Given the description of an element on the screen output the (x, y) to click on. 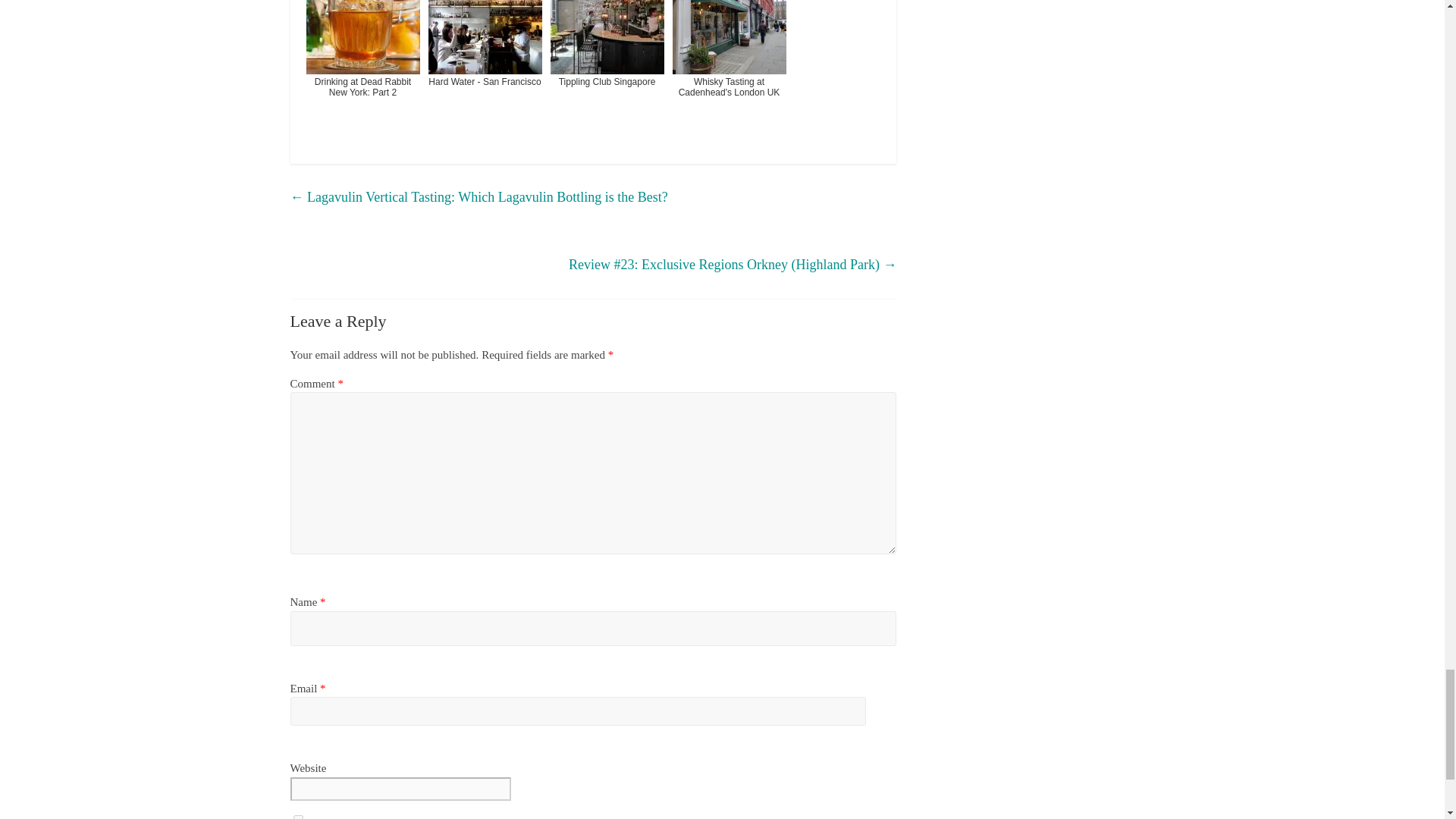
yes (297, 816)
Tippling Club Singapore (607, 67)
Hard Water - San Francisco (484, 67)
Drinking at Dead Rabbit New York: Part 2 (363, 67)
Whisky Tasting at Cadenhead's London UK (728, 67)
